Given the description of an element on the screen output the (x, y) to click on. 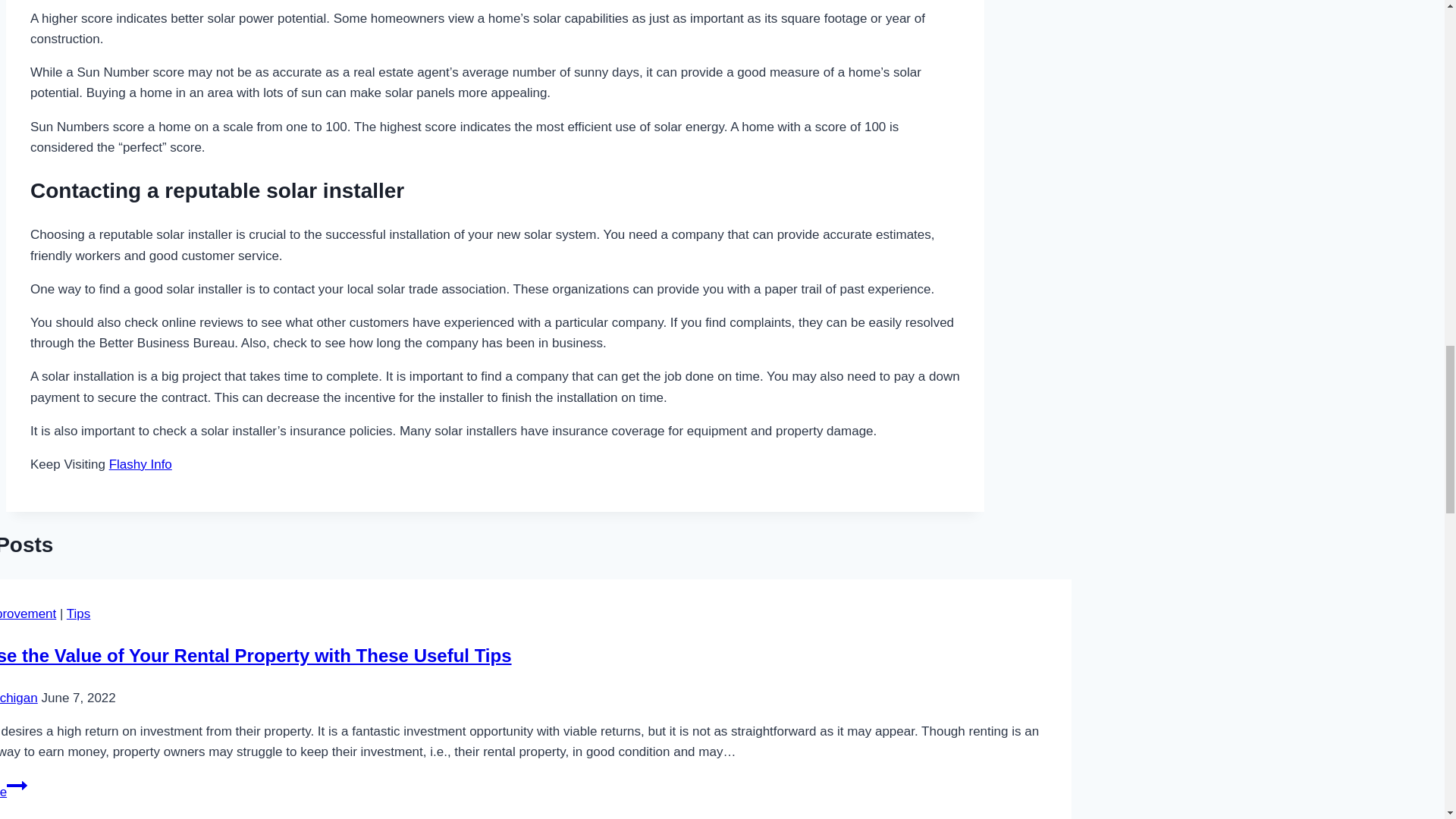
Home Improvement (28, 613)
Continue (17, 785)
Ellie Michigan (18, 698)
Flashy Info (140, 464)
Tips (78, 613)
